Given the description of an element on the screen output the (x, y) to click on. 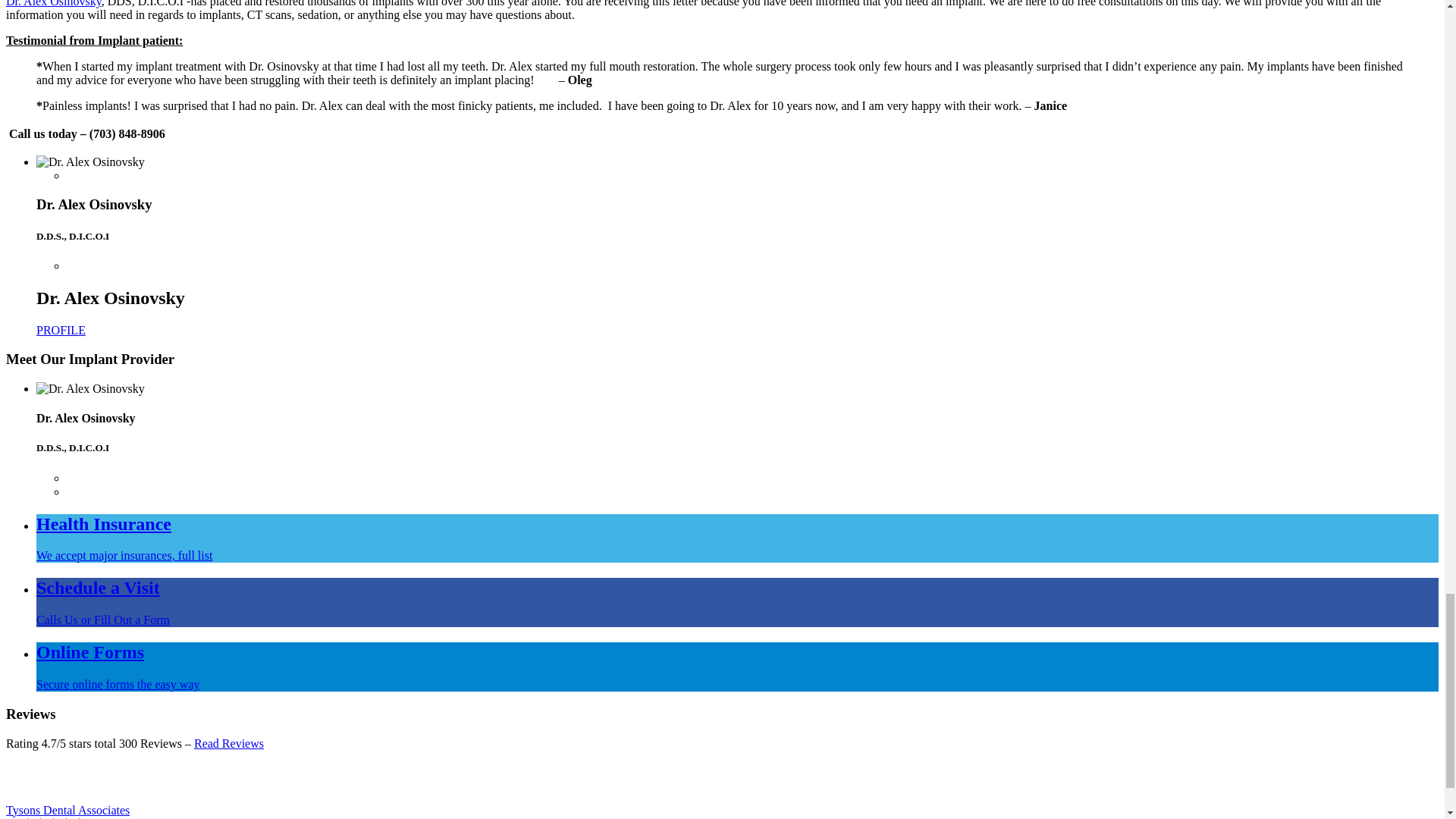
Schedule a Visit (98, 587)
Calls Us or Fill Out a Form (103, 619)
Dr. Alex Osinovsky (60, 329)
We accept major insurances, full list (124, 554)
Health Insurance  (103, 523)
Online Forms (90, 651)
